Given the description of an element on the screen output the (x, y) to click on. 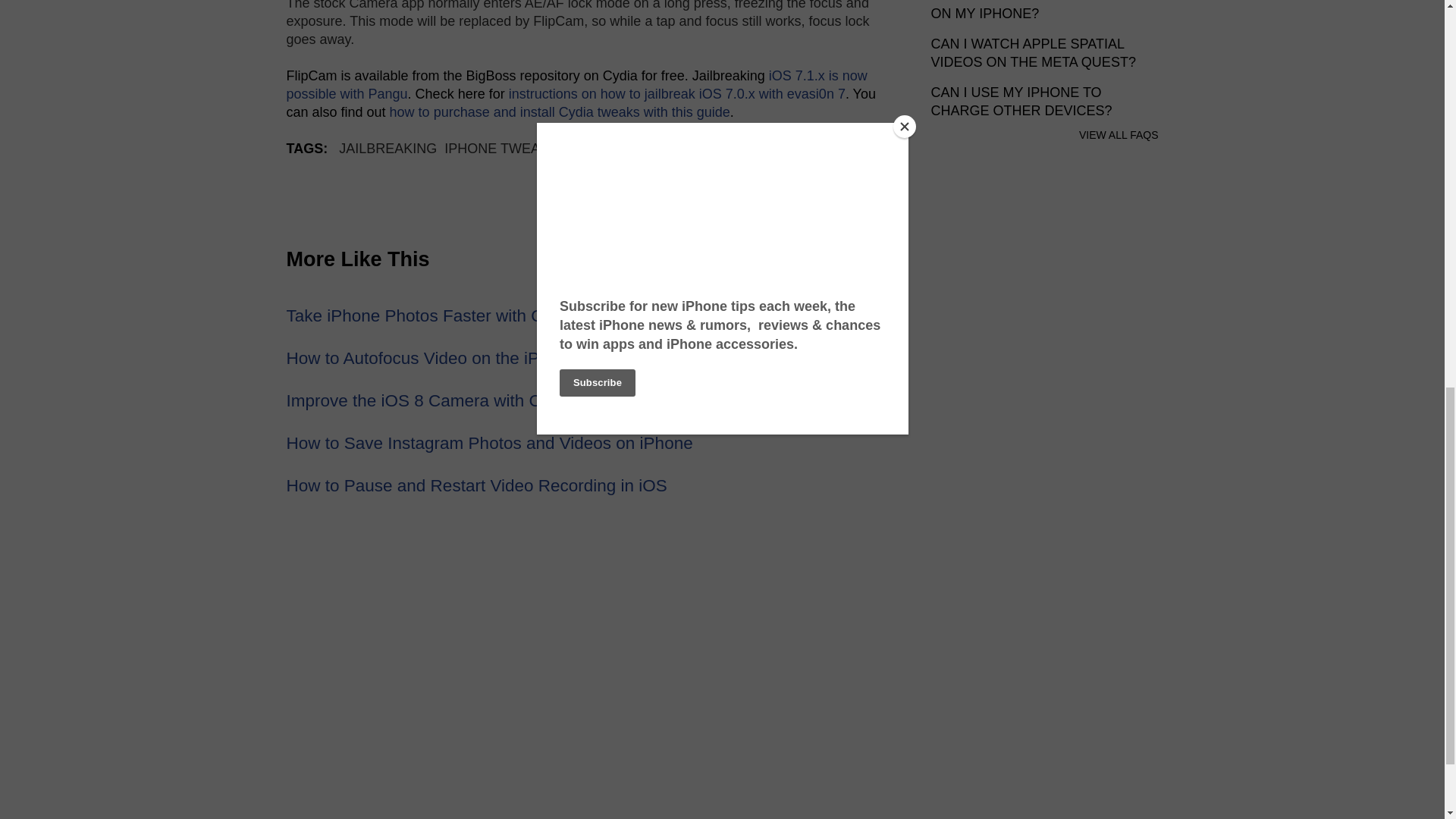
PHOTOGRAPHY (618, 148)
IPHONE TWEAKS (500, 148)
how to purchase and install Cydia tweaks with this guide (560, 111)
JAILBREAKING (387, 148)
CAN I USE MY IPHONE TO CHARGE OTHER DEVICES? (1021, 101)
How to Pause and Restart Video Recording in iOS (476, 485)
VIEW ALL FAQS (1118, 134)
CAN I WATCH APPLE SPATIAL VIDEOS ON THE META QUEST? (1033, 52)
How to Save Instagram Photos and Videos on iPhone (489, 443)
Take iPhone Photos Faster with QuickShoot Pro (468, 315)
3rd party ad content (1044, 626)
CAN I USE APPLE INTELLIGENCE ON MY IPHONE? (1039, 10)
iOS 7.1.x is now possible with Pangu (576, 84)
instructions on how to jailbreak iOS 7.0.x with evasi0n 7 (676, 93)
Improve the iOS 8 Camera with CameraTweak 3 (469, 400)
